Given the description of an element on the screen output the (x, y) to click on. 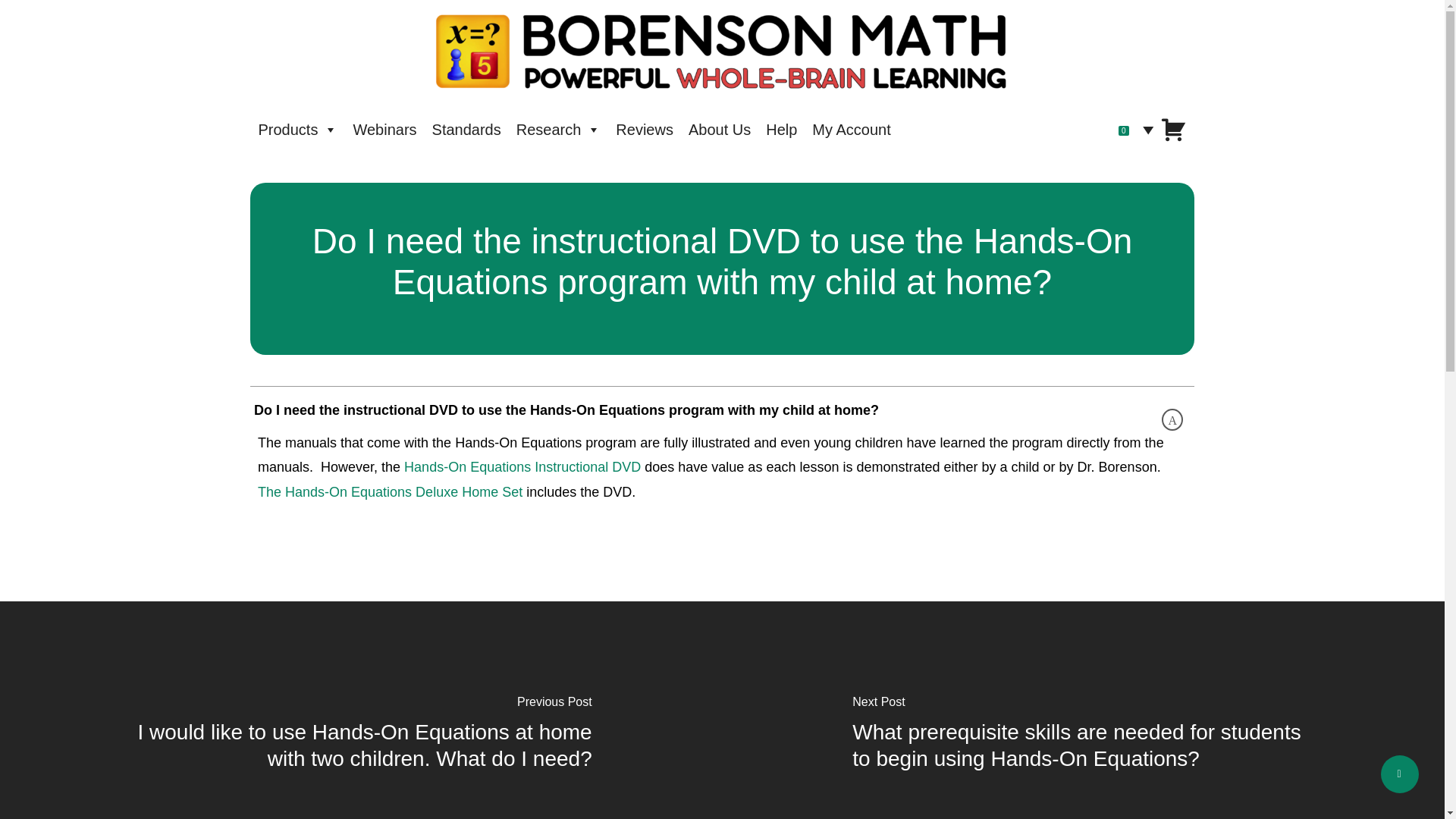
Reviews (644, 129)
My Account (851, 129)
Research (558, 129)
Help (781, 129)
The Hands-On Equations Deluxe Home Set (389, 491)
0 (1149, 129)
About Us (719, 129)
Hands-On Equations Instructional DVD (522, 467)
Products (297, 129)
